Given the description of an element on the screen output the (x, y) to click on. 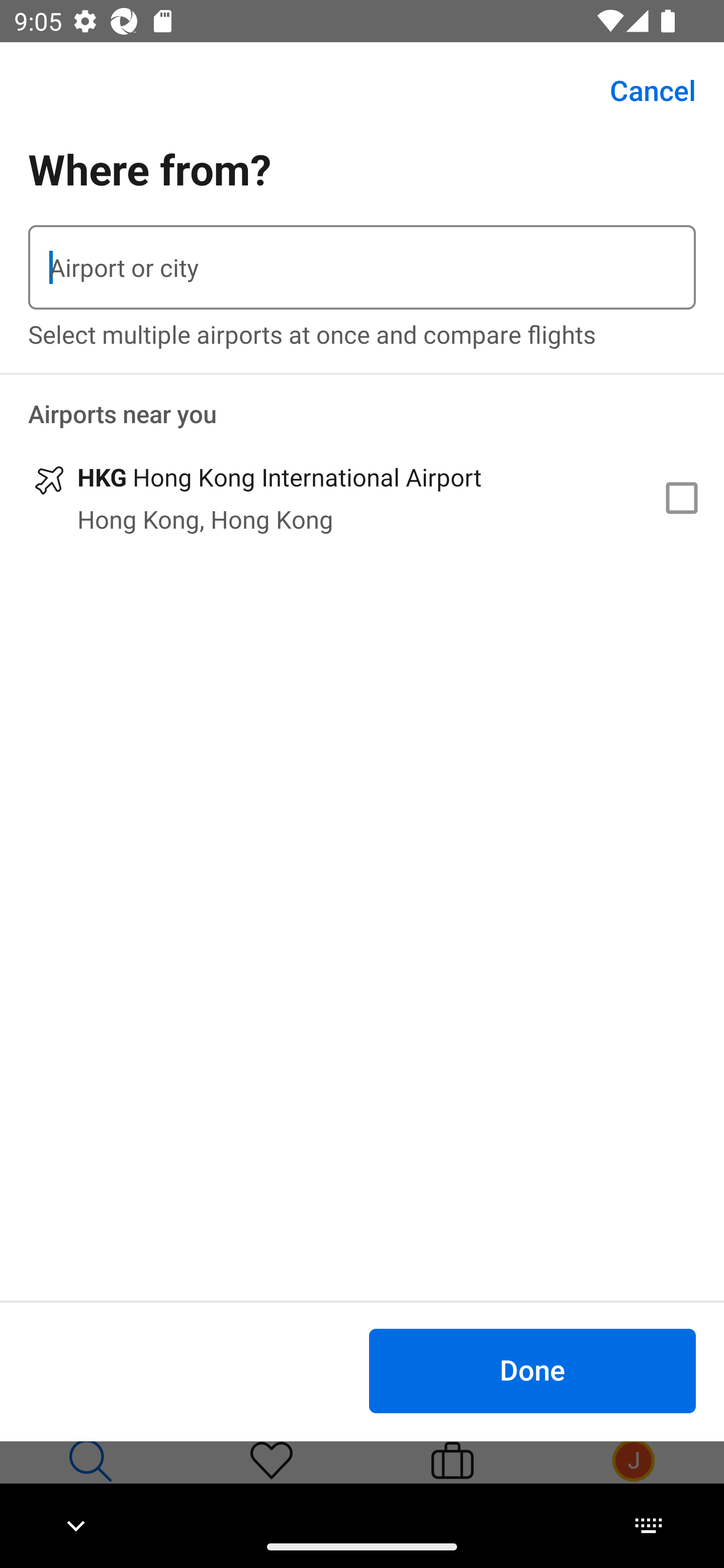
Cancel (641, 90)
Airport or city (361, 266)
Done (532, 1370)
